Given the description of an element on the screen output the (x, y) to click on. 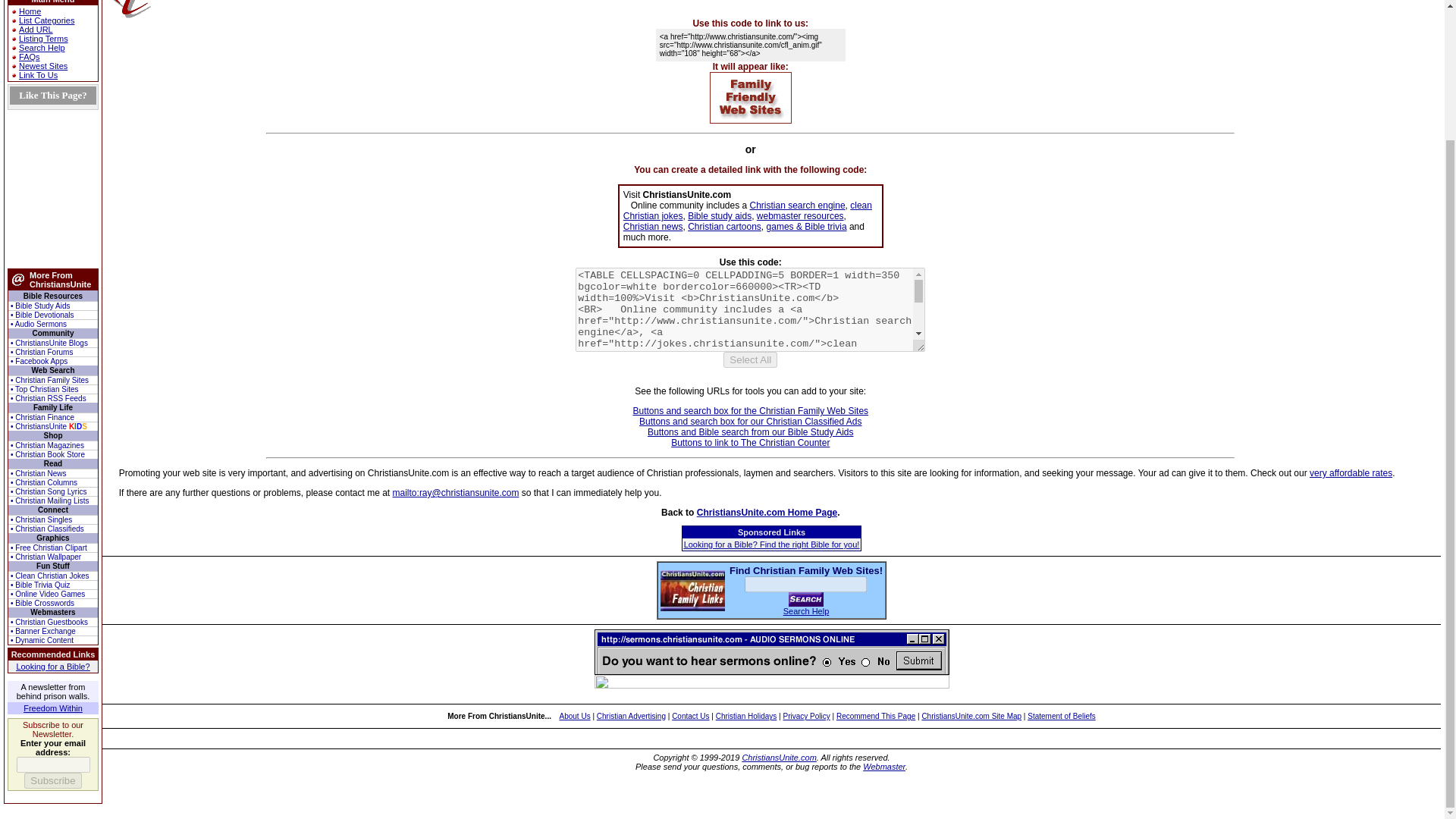
Select All (750, 359)
Search Help (41, 47)
Looking for a Bible? (52, 665)
Submit (806, 599)
List Categories (46, 20)
Add URL (35, 29)
Home (29, 10)
Subscribe (52, 780)
Listing Terms (43, 38)
Link To Us (38, 74)
